Given the description of an element on the screen output the (x, y) to click on. 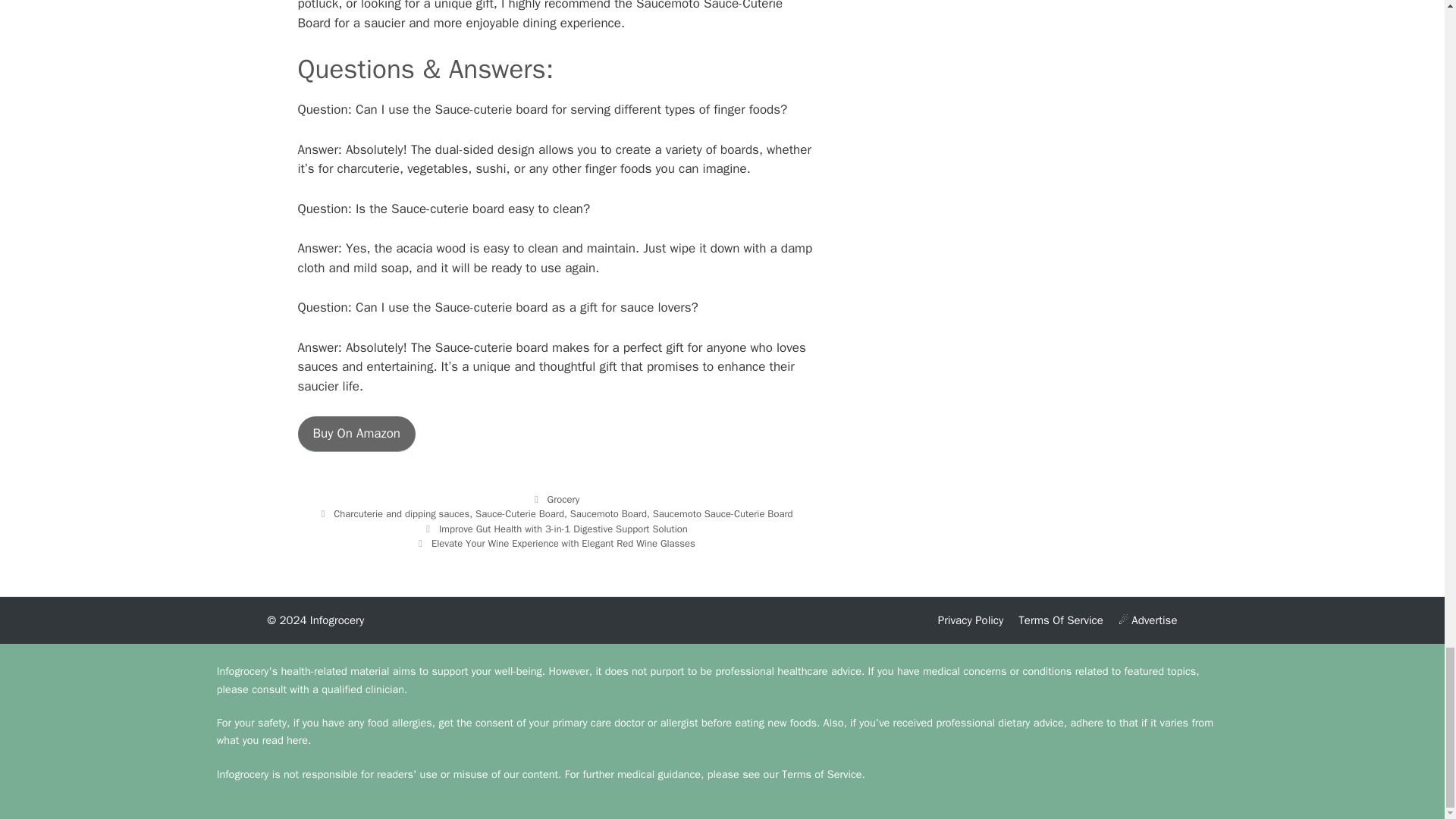
Privacy Policy (970, 620)
Improve Gut Health with 3-in-1 Digestive Support Solution (563, 528)
Elevate Your Wine Experience with Elegant Red Wine Glasses (562, 543)
Sauce-Cuterie Board (520, 513)
Terms Of Service (1059, 620)
Buy On Amazon (355, 434)
Previous (555, 528)
Saucemoto Board (608, 513)
Grocery (563, 499)
Charcuterie and dipping sauces (400, 513)
Saucemoto Sauce-Cuterie Board (722, 513)
Next (554, 543)
